Given the description of an element on the screen output the (x, y) to click on. 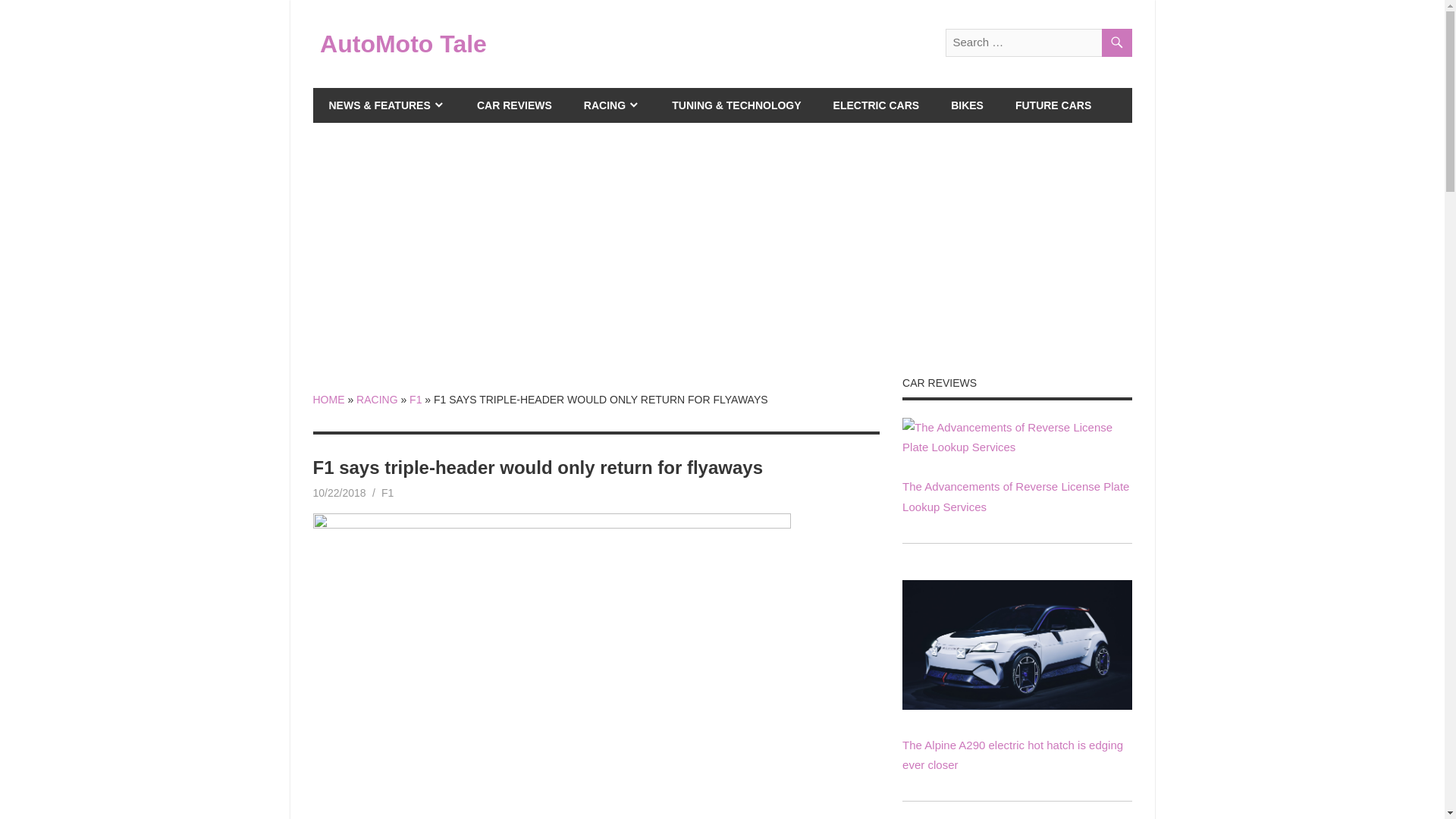
The Alpine A290 electric hot hatch is edging ever closer (1016, 705)
mediabest (403, 492)
Search for: (1037, 42)
CAR REVIEWS (514, 104)
The Advancements of Reverse License Plate Lookup Services (1015, 495)
HOME (328, 399)
AutoMoto Tale (403, 43)
ELECTRIC CARS (876, 104)
03:49 (339, 492)
The Alpine A290 electric hot hatch is edging ever closer (1016, 644)
